Given the description of an element on the screen output the (x, y) to click on. 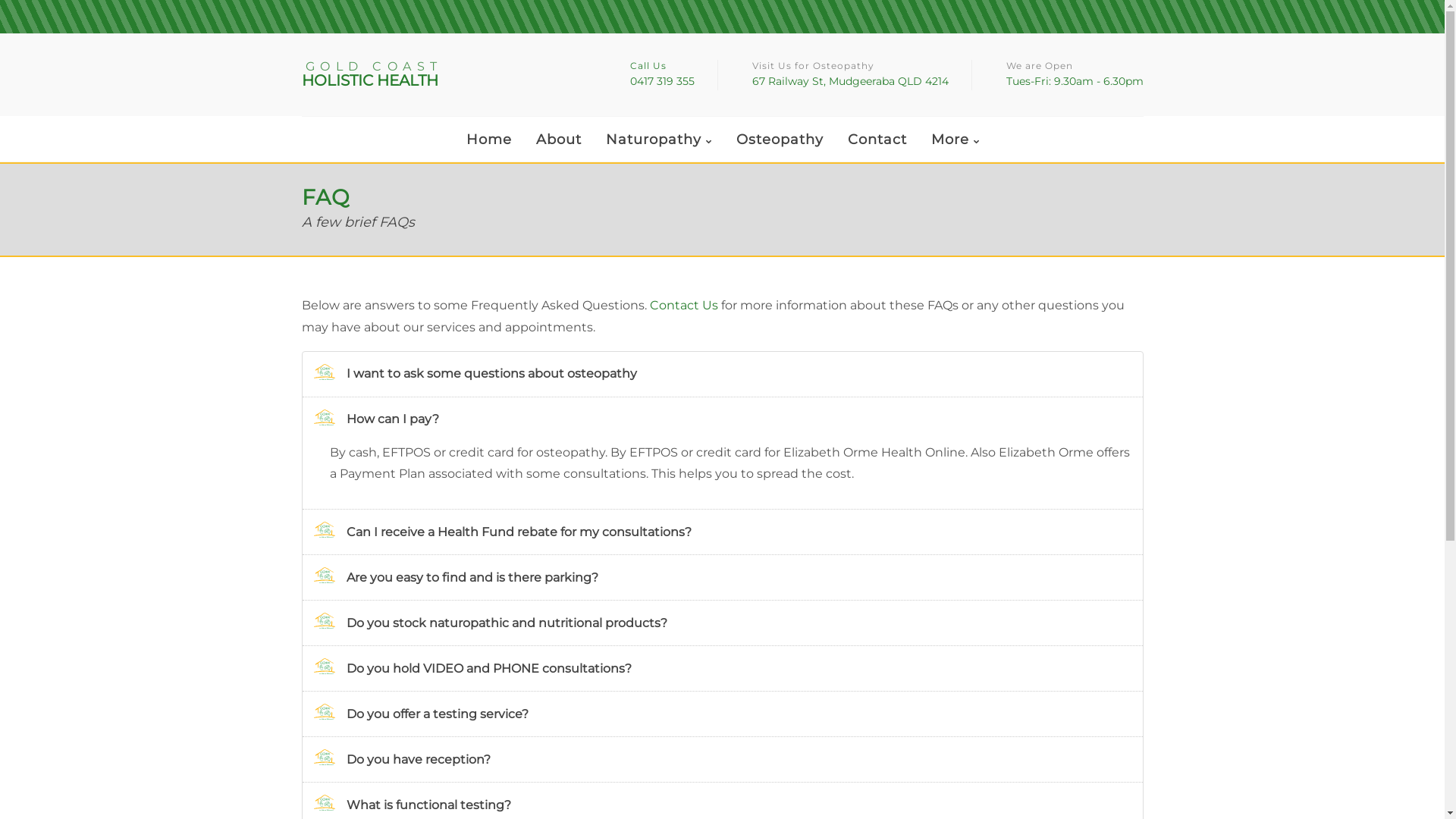
More Element type: text (955, 140)
Contact Us Element type: text (683, 305)
Naturopathy Element type: text (658, 140)
Call Us
0417 319 355 Element type: text (661, 74)
About Element type: text (558, 139)
Osteopathy Element type: text (779, 139)
GOLD COAST
HOLISTIC HEALTH Element type: text (444, 74)
Home Element type: text (489, 139)
Contact Element type: text (877, 139)
